Given the description of an element on the screen output the (x, y) to click on. 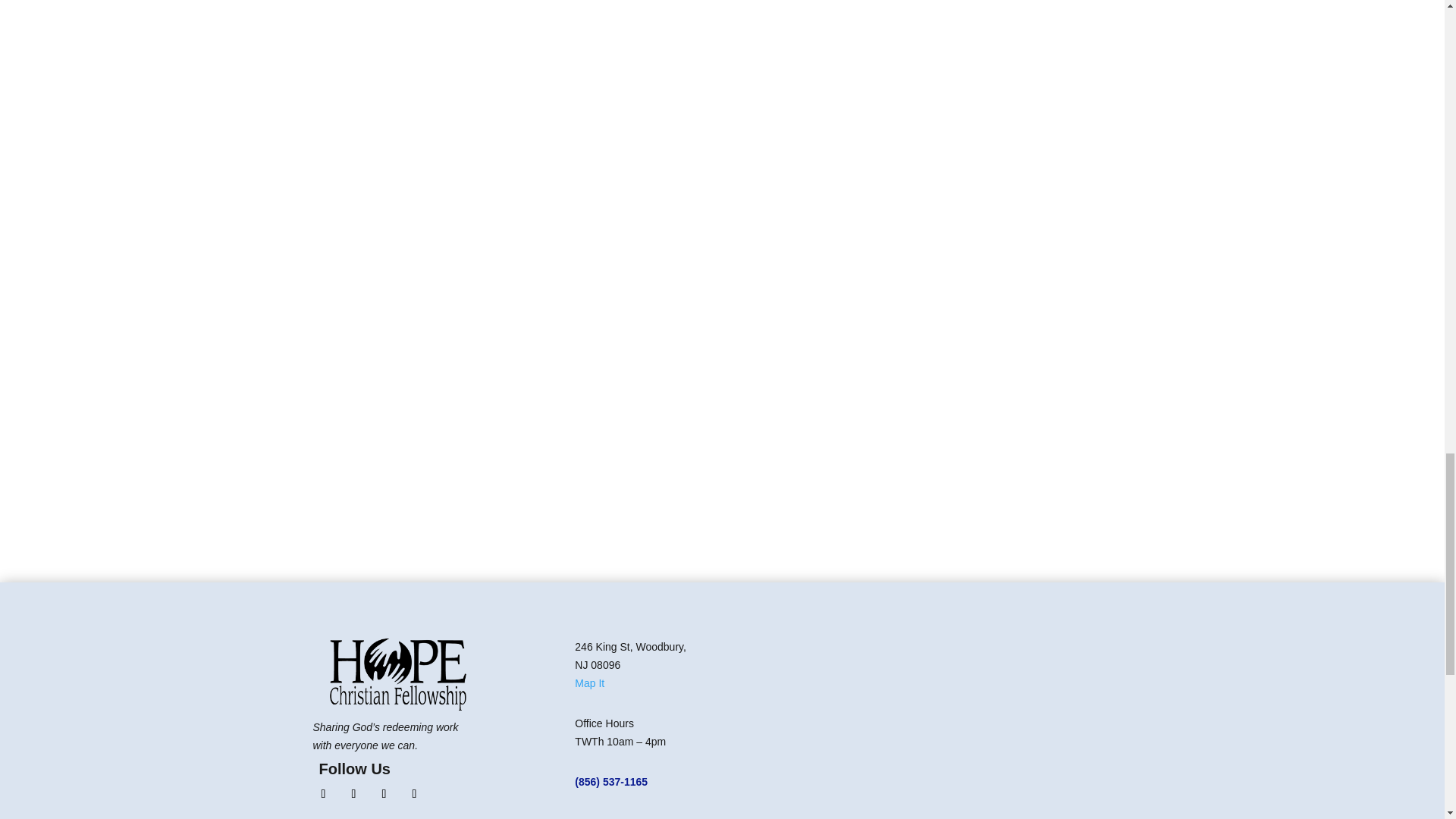
hope-christian-fellowship-woodburty (397, 674)
Follow on Youtube (383, 793)
Follow on Facebook (322, 793)
Follow on Google (413, 793)
Follow on Instagram (352, 793)
